Given the description of an element on the screen output the (x, y) to click on. 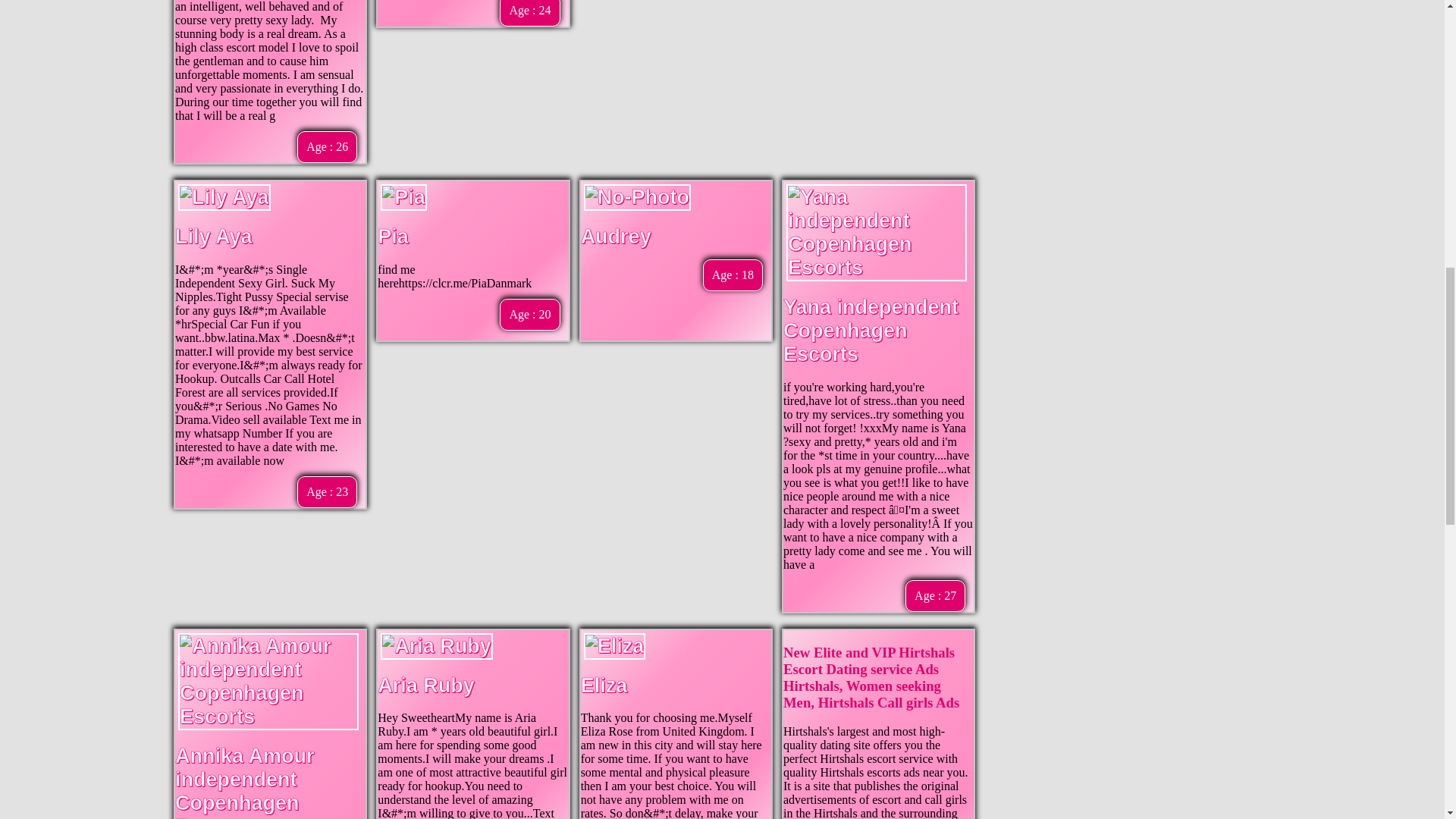
Annika Amour independent Copenhagen Escorts (244, 781)
Pia (393, 236)
Lily Aya (212, 236)
Aria Ruby (425, 685)
Yana independent Copenhagen Escorts (870, 330)
Eliza (603, 685)
Audrey (615, 236)
